Given the description of an element on the screen output the (x, y) to click on. 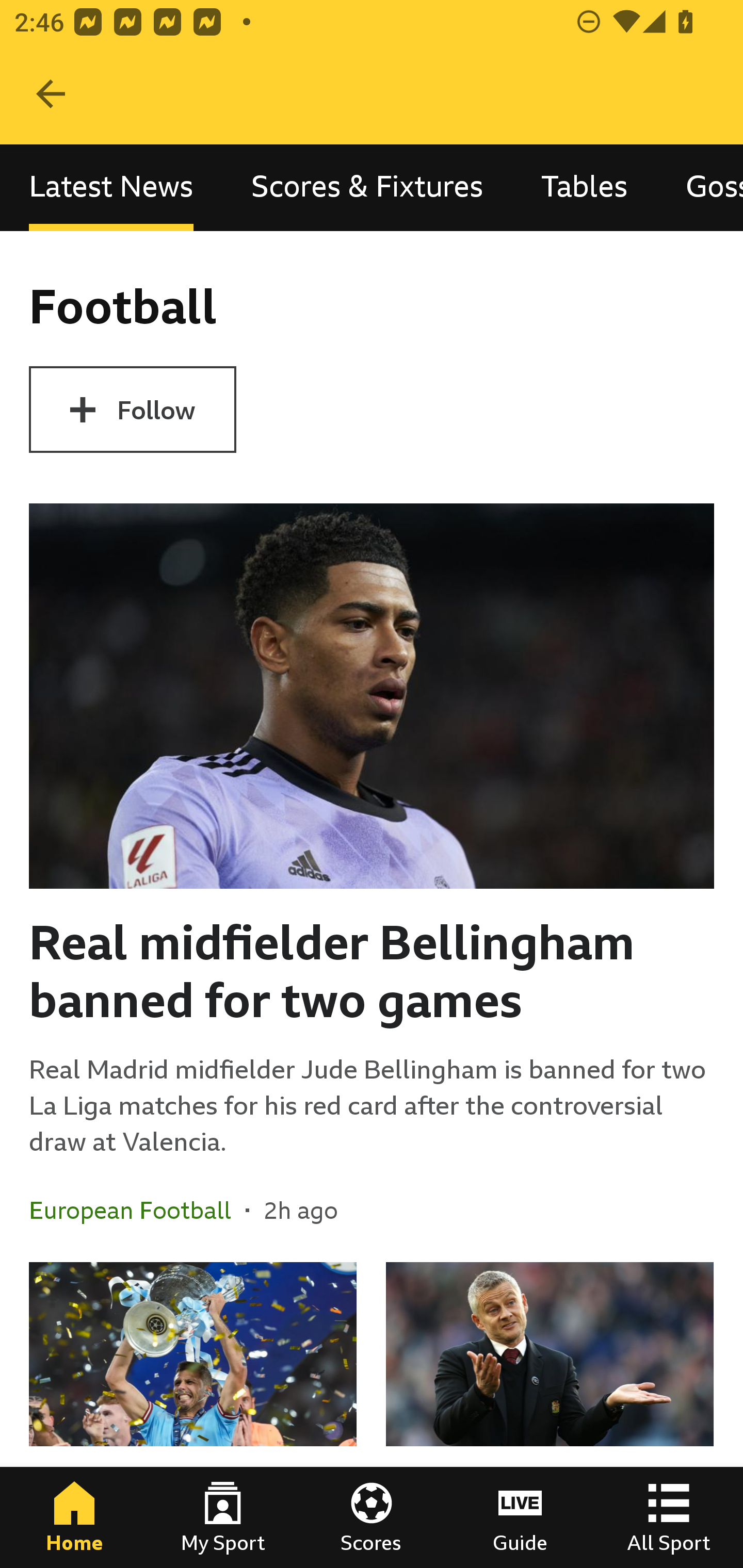
Navigate up (50, 93)
Latest News, selected Latest News (111, 187)
Scores & Fixtures (367, 187)
Tables (584, 187)
Follow Football Follow (132, 409)
European Football In the section European Football (136, 1209)
No 'magic wand' for Man Utd - ex-boss Solskjaer (549, 1415)
My Sport (222, 1517)
Scores (371, 1517)
Guide (519, 1517)
All Sport (668, 1517)
